Given the description of an element on the screen output the (x, y) to click on. 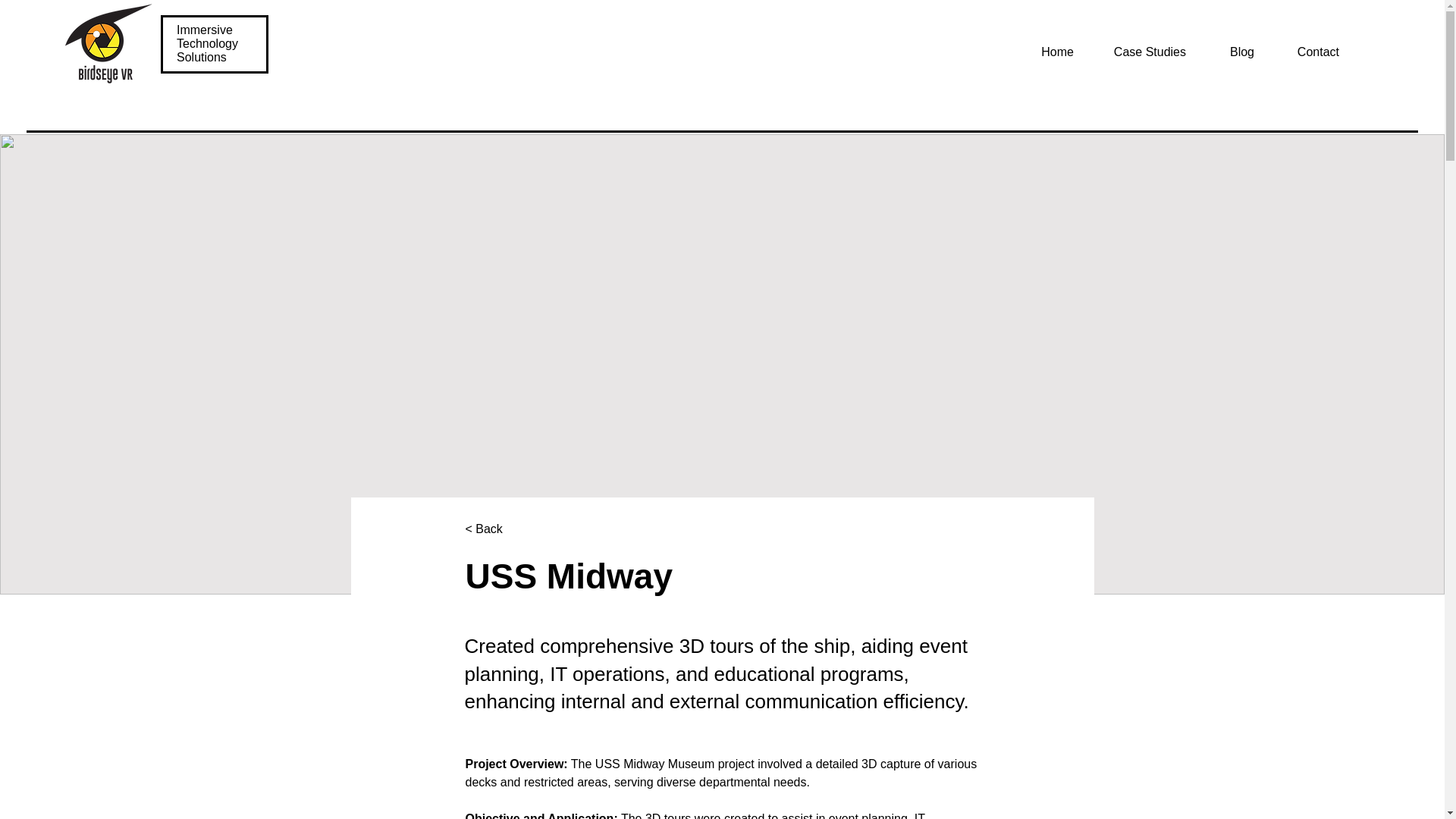
Blog (1230, 51)
Case Studies (1140, 51)
Contact (1308, 51)
Immersive  (205, 29)
Home (1045, 51)
